Given the description of an element on the screen output the (x, y) to click on. 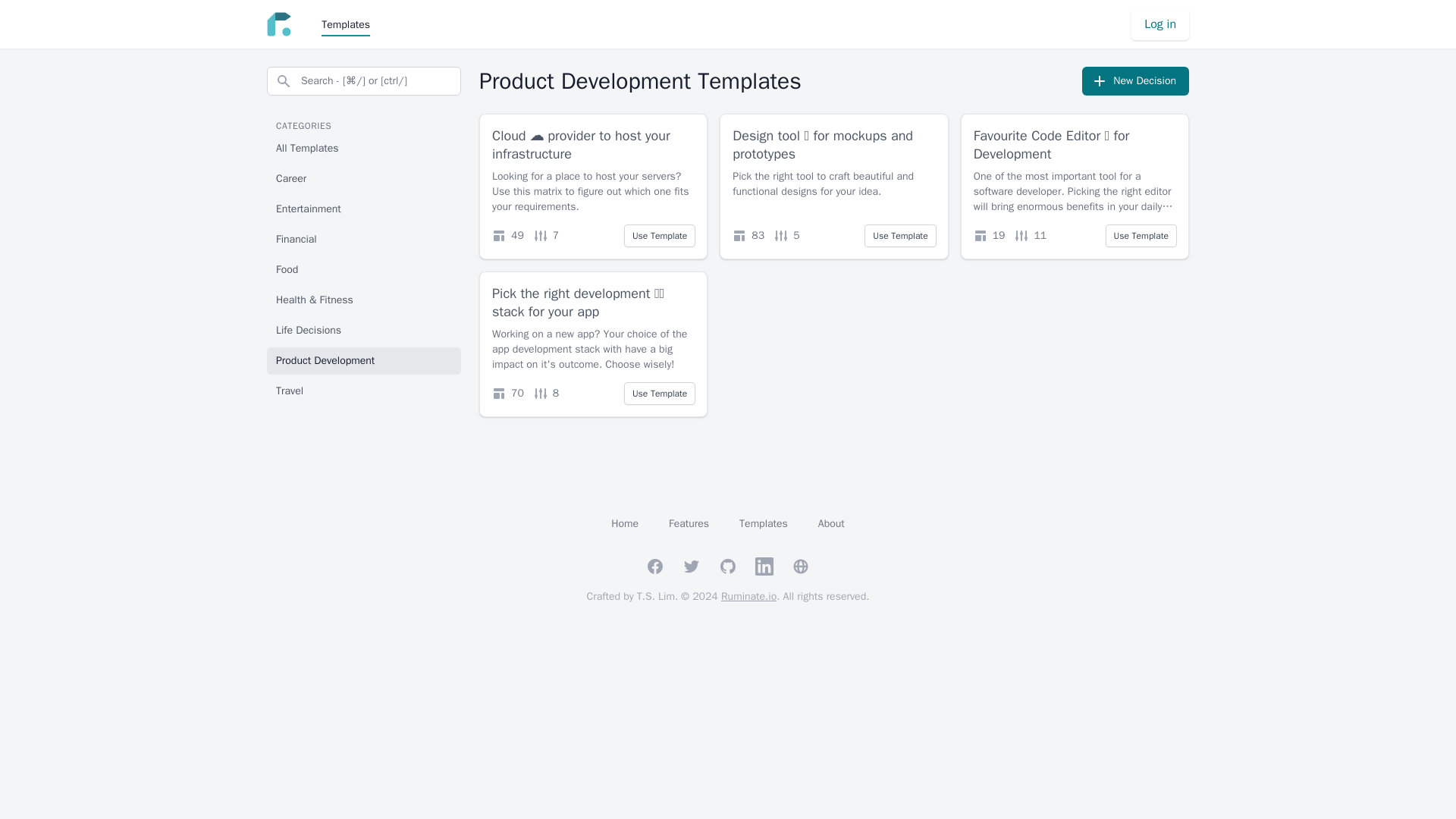
Facebook (654, 566)
About (831, 522)
Templates (763, 522)
Log in (1160, 24)
Use Template (1140, 235)
Entertainment (363, 208)
Templates (345, 24)
LinkedIn (764, 566)
New Decision (1135, 80)
Blog (800, 566)
